Given the description of an element on the screen output the (x, y) to click on. 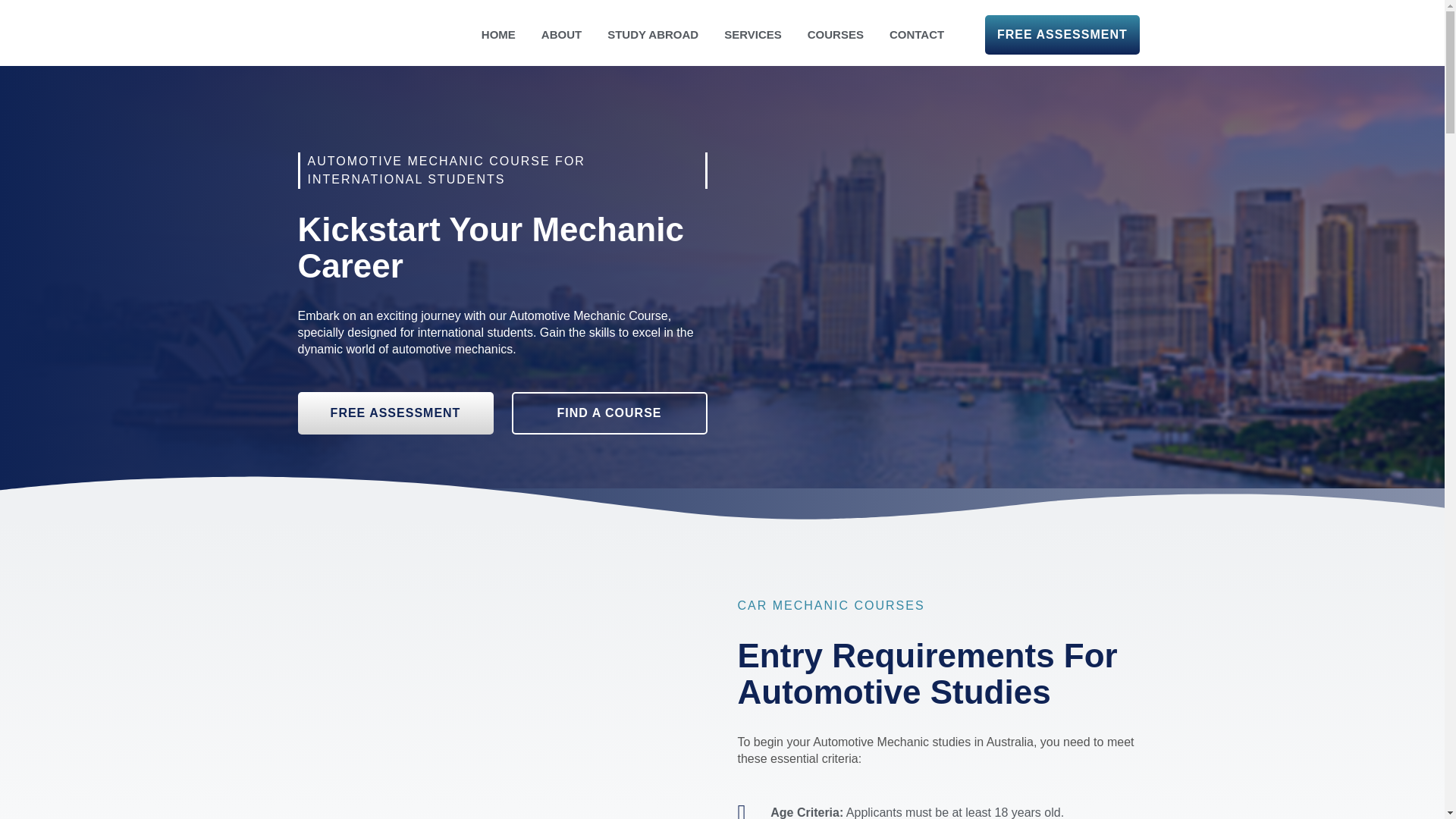
COURSES (835, 34)
SERVICES (752, 34)
STUDY ABROAD (652, 34)
HOME (498, 34)
ABOUT (561, 34)
